Given the description of an element on the screen output the (x, y) to click on. 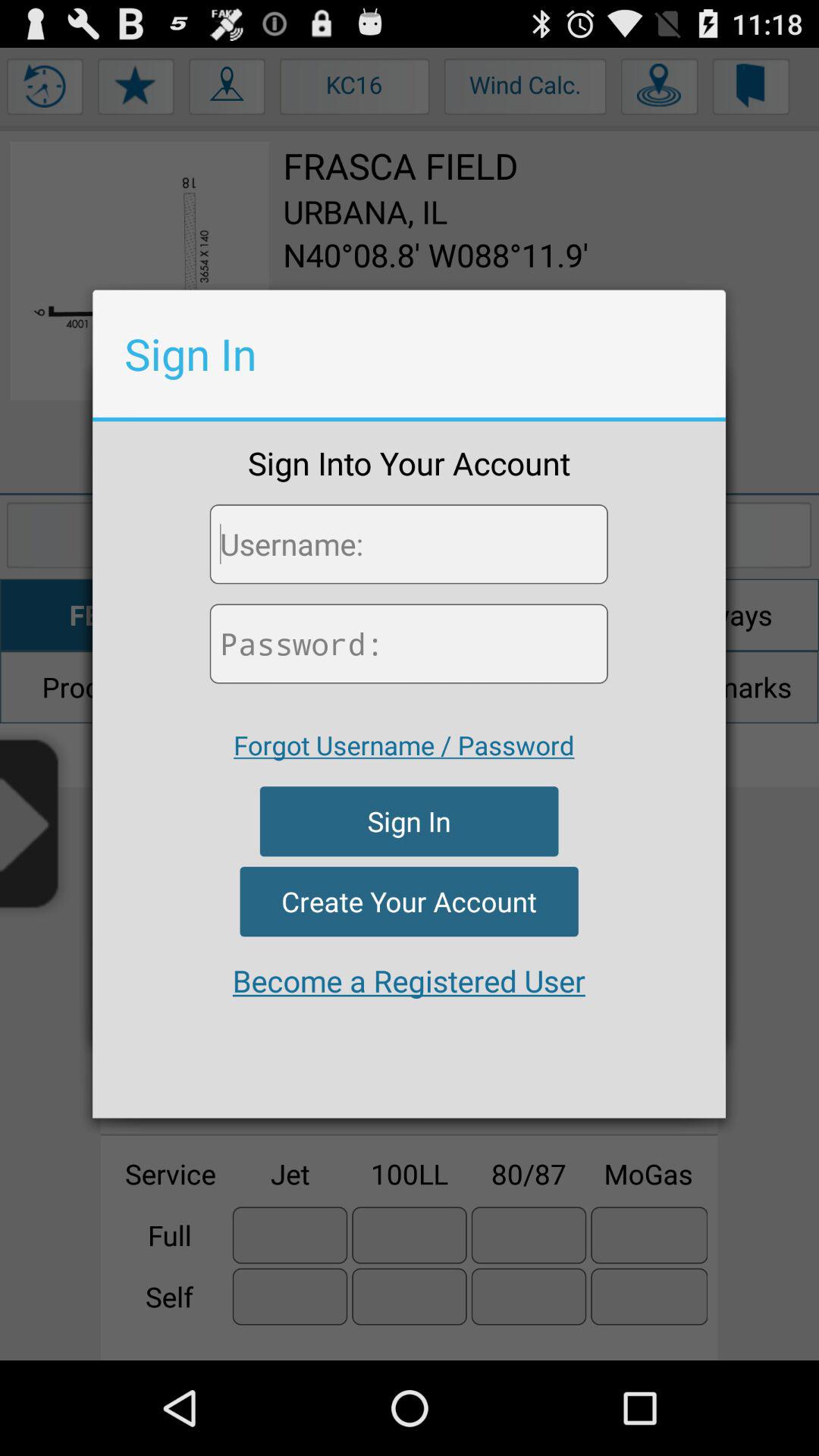
scroll until become a registered item (408, 980)
